Given the description of an element on the screen output the (x, y) to click on. 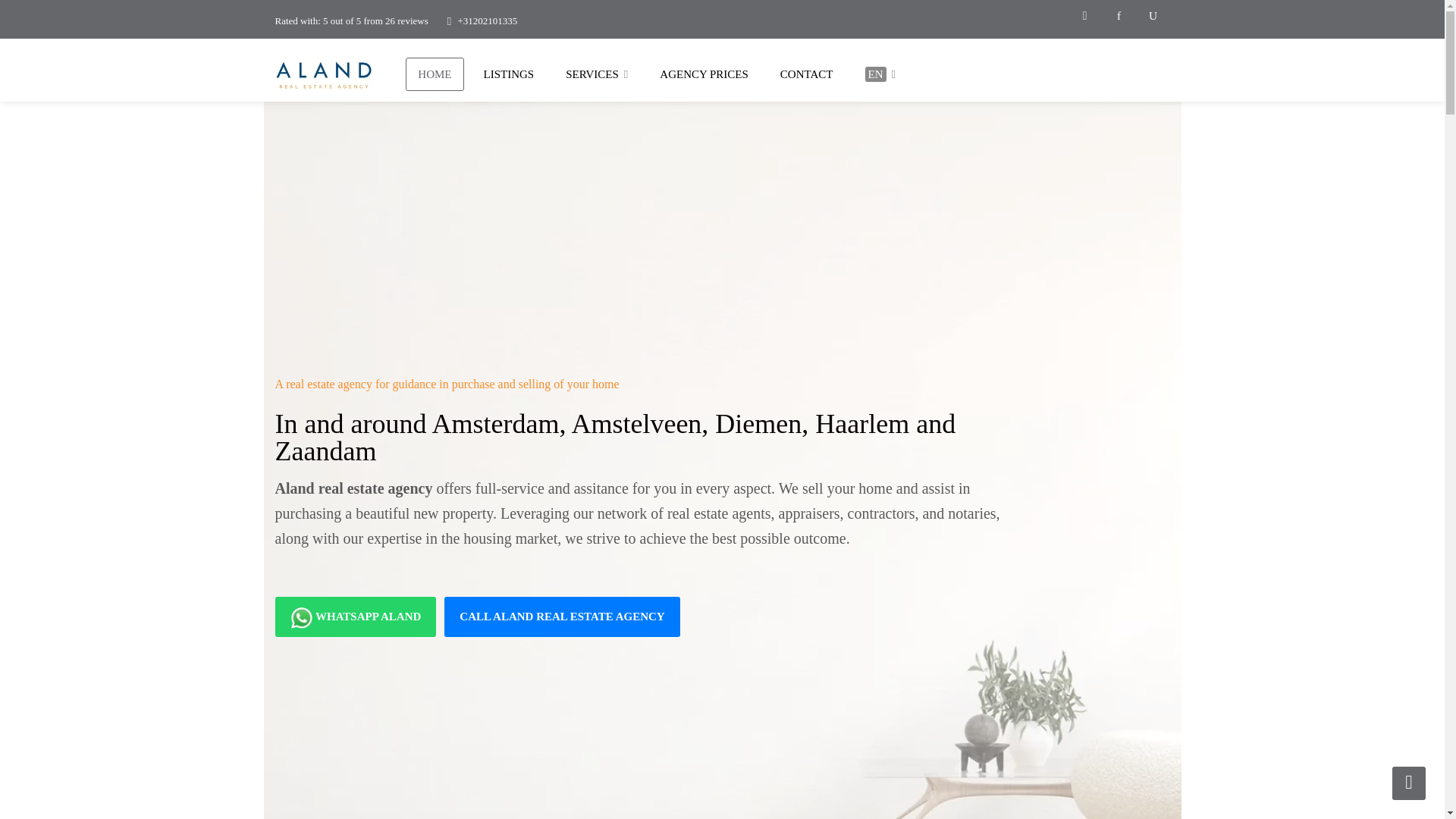
HOME (434, 73)
26 reviews (406, 20)
CALL ALAND REAL ESTATE AGENCY (561, 617)
facebook (1117, 17)
EN (879, 73)
WHATSAPP ALAND (355, 617)
Call Aland Real estate agency now for more information (561, 617)
youtube (1152, 17)
instagram (1084, 17)
LISTINGS (509, 73)
CONTACT (806, 73)
SERVICES (596, 73)
Reviews Aland Real estate agency (406, 20)
Call Aland real estate agency (486, 20)
Come in contact by Whatsapp with our agent (355, 617)
